Given the description of an element on the screen output the (x, y) to click on. 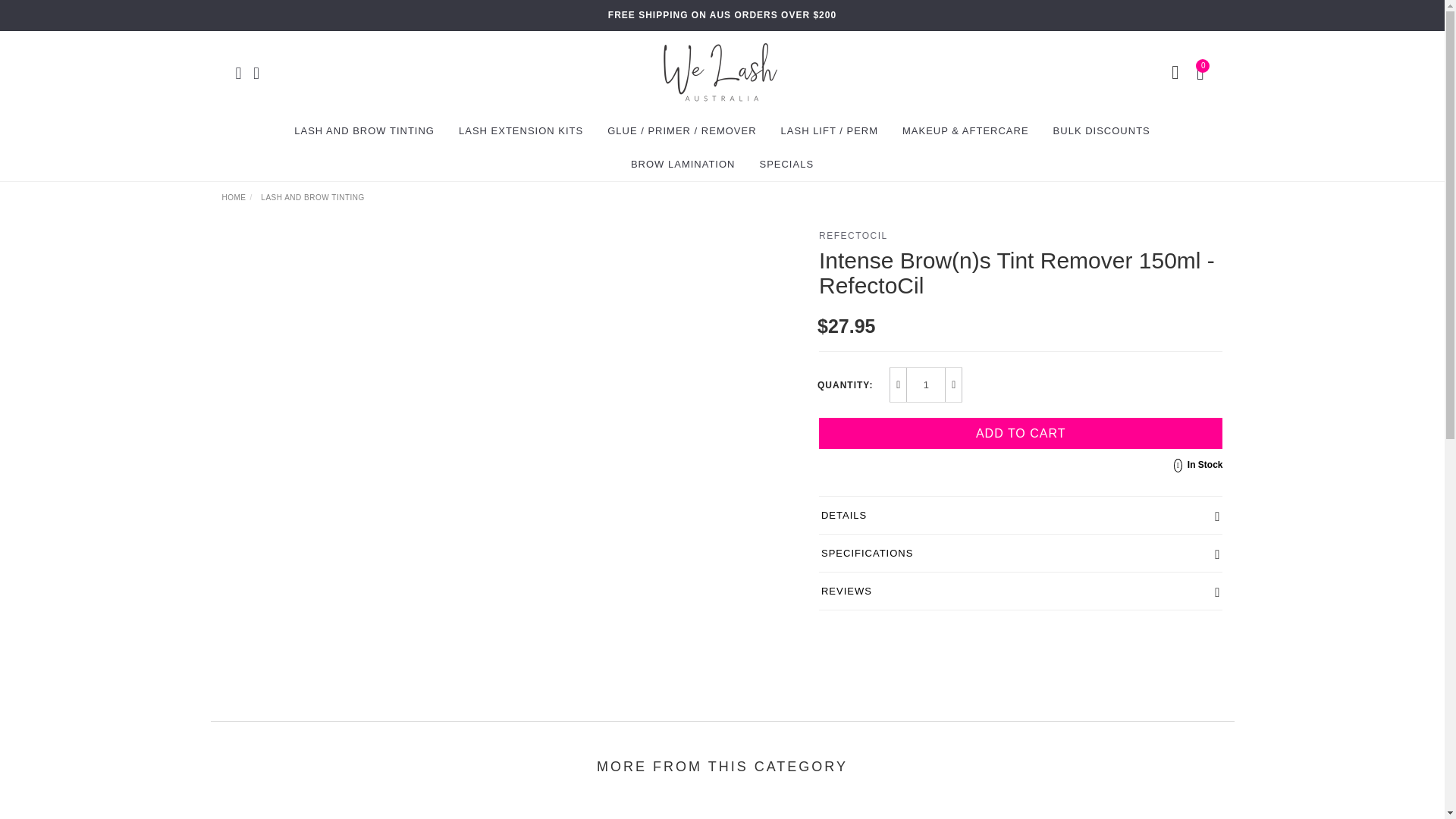
1 (926, 385)
RefectoCil (853, 235)
We Lash Australia (720, 71)
LASH AND BROW TINTING (364, 131)
SPECIALS (786, 164)
0 (1202, 71)
LASH EXTENSION KITS (521, 131)
BROW LAMINATION (682, 164)
BULK DISCOUNTS (1101, 131)
